Given the description of an element on the screen output the (x, y) to click on. 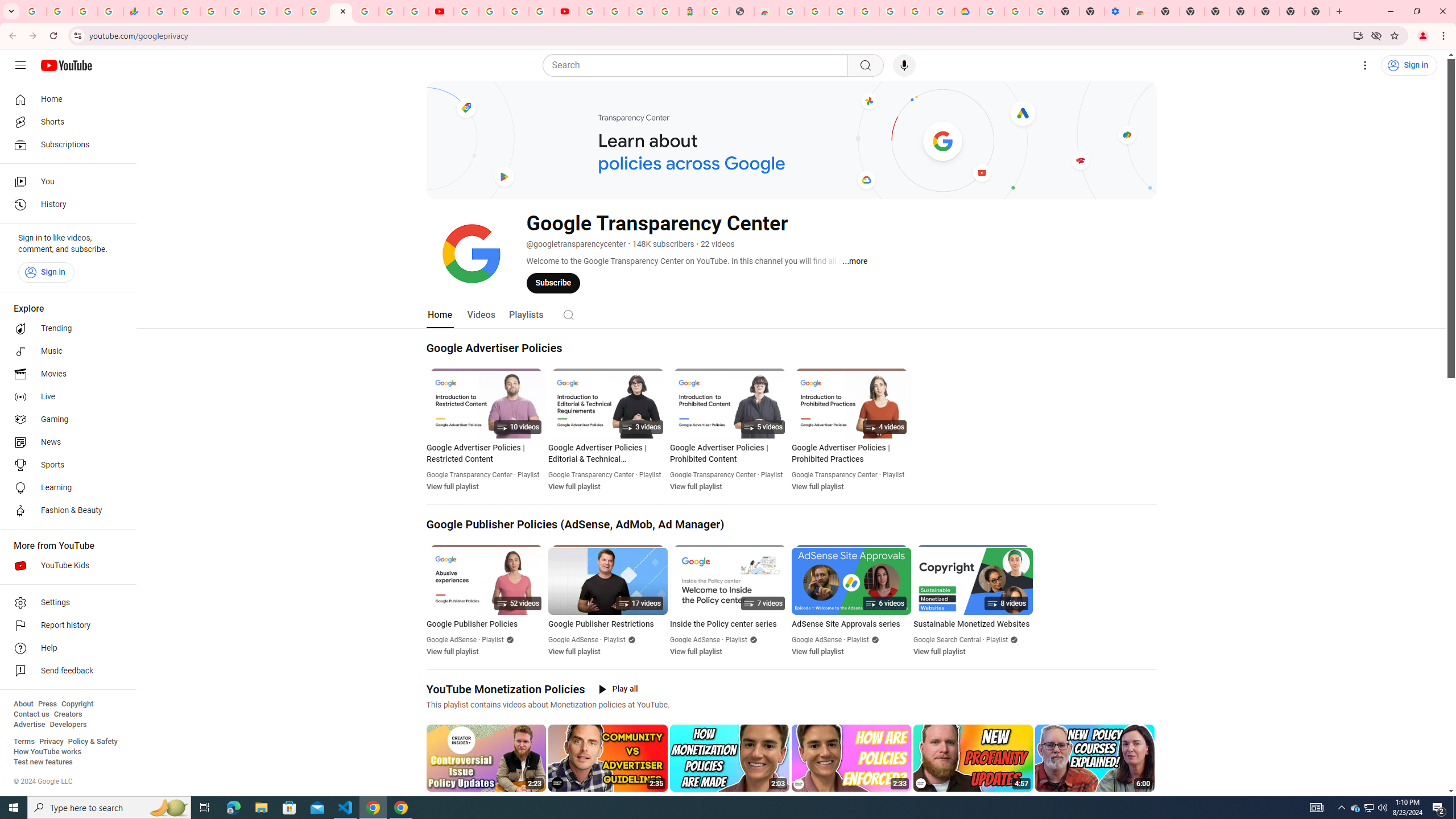
Subscriptions (64, 144)
Inside the Policy center series (729, 624)
Fashion & Beauty (64, 510)
Movies (64, 373)
Sign in - Google Accounts (590, 11)
Google AdSense (816, 639)
AdSense Site Approvals series (850, 624)
YouTube Home (66, 65)
Privacy Checkup (415, 11)
Live (64, 396)
